Given the description of an element on the screen output the (x, y) to click on. 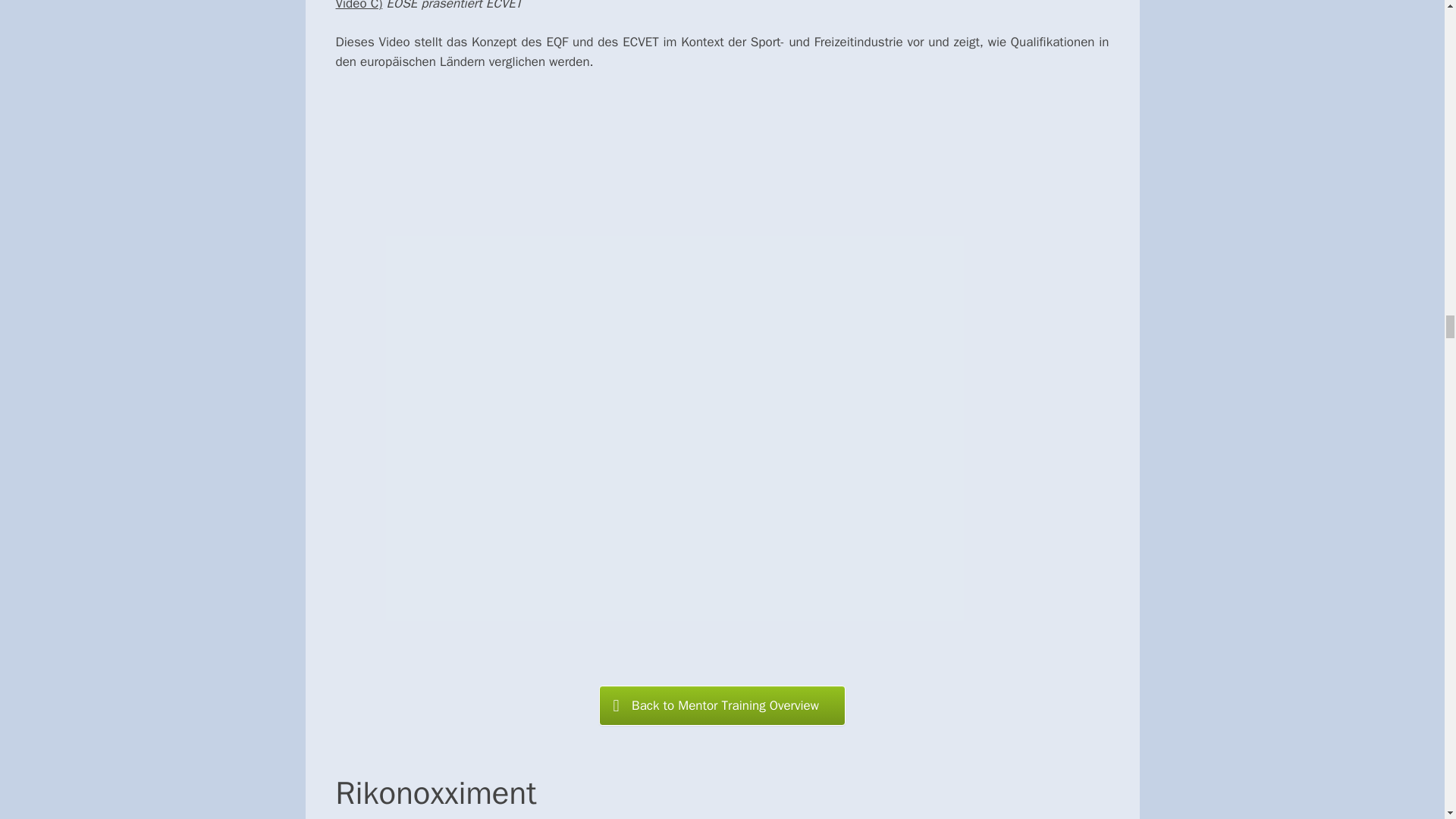
Back to Mentor Training Overview (721, 705)
